Given the description of an element on the screen output the (x, y) to click on. 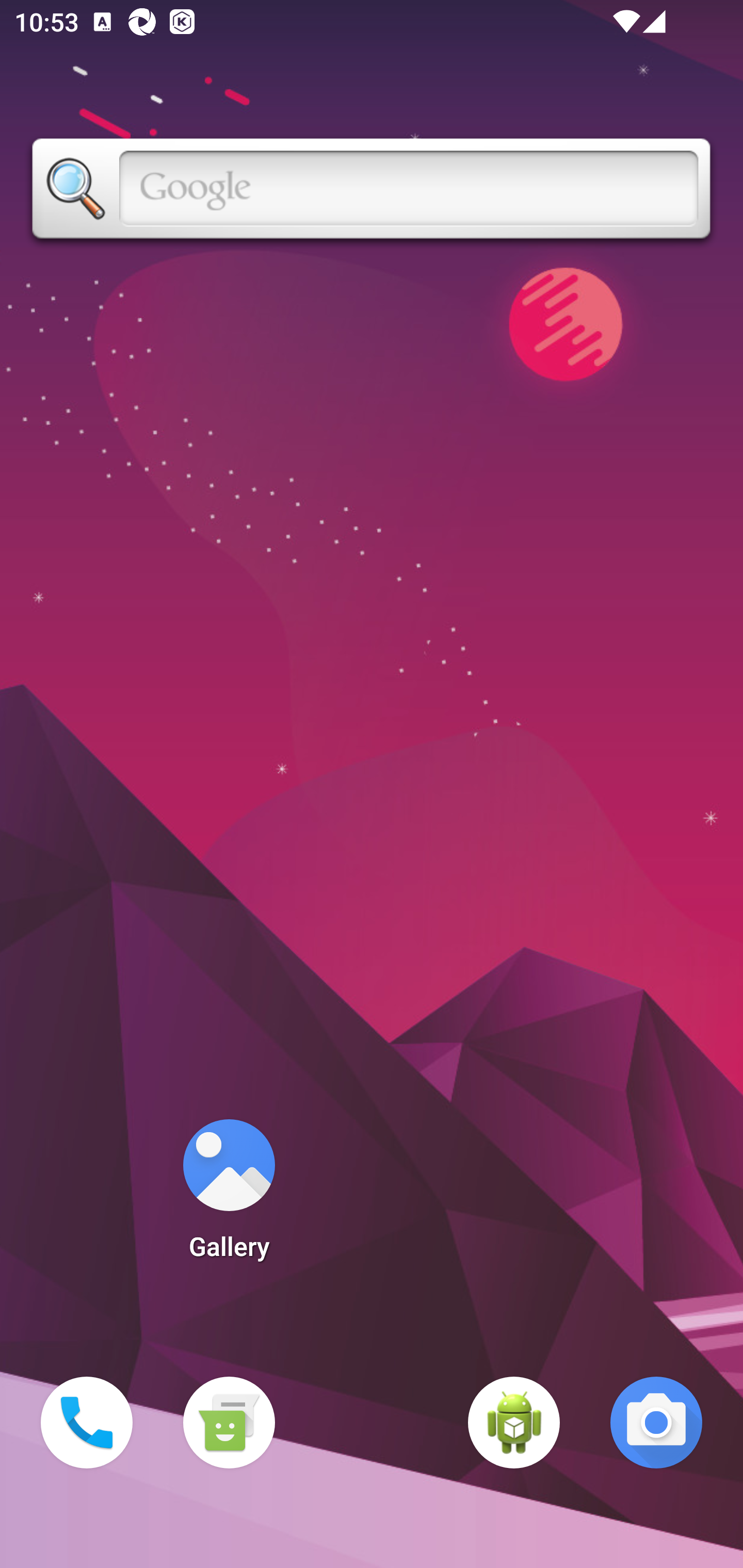
Gallery (228, 1195)
Phone (86, 1422)
Messaging (228, 1422)
WebView Browser Tester (513, 1422)
Camera (656, 1422)
